Given the description of an element on the screen output the (x, y) to click on. 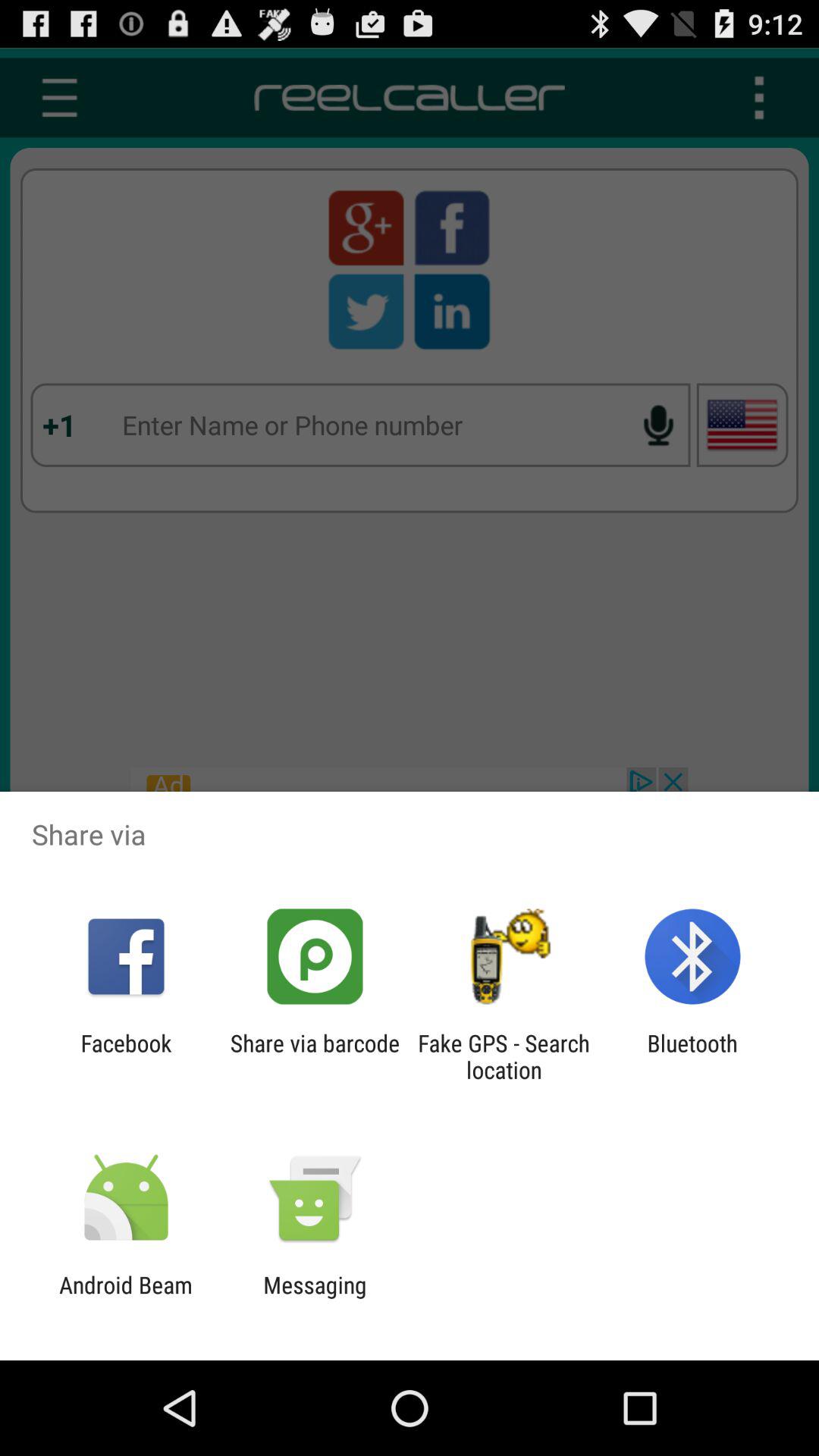
tap the android beam item (125, 1298)
